Given the description of an element on the screen output the (x, y) to click on. 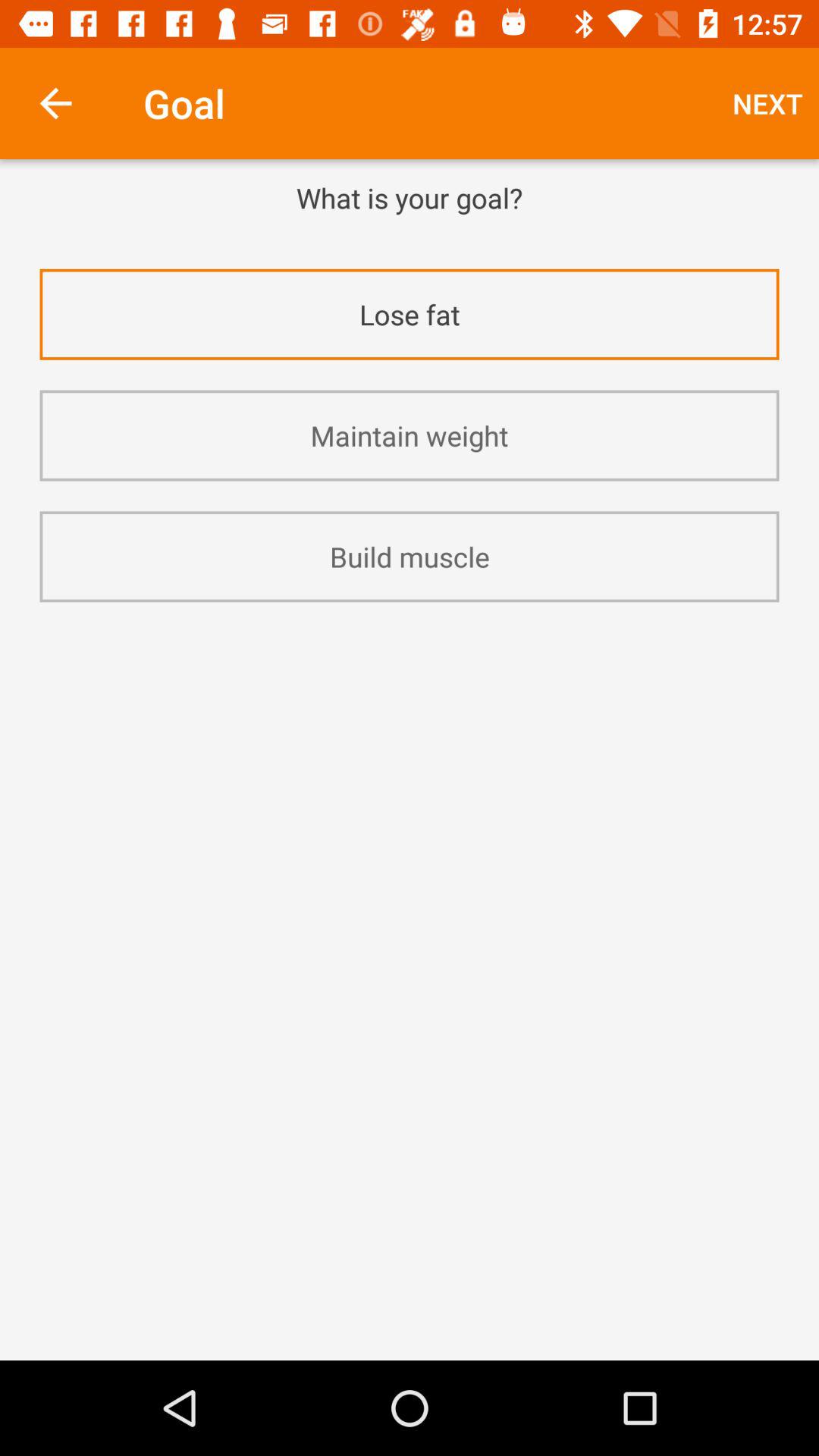
select app above the lose fat app (409, 237)
